Given the description of an element on the screen output the (x, y) to click on. 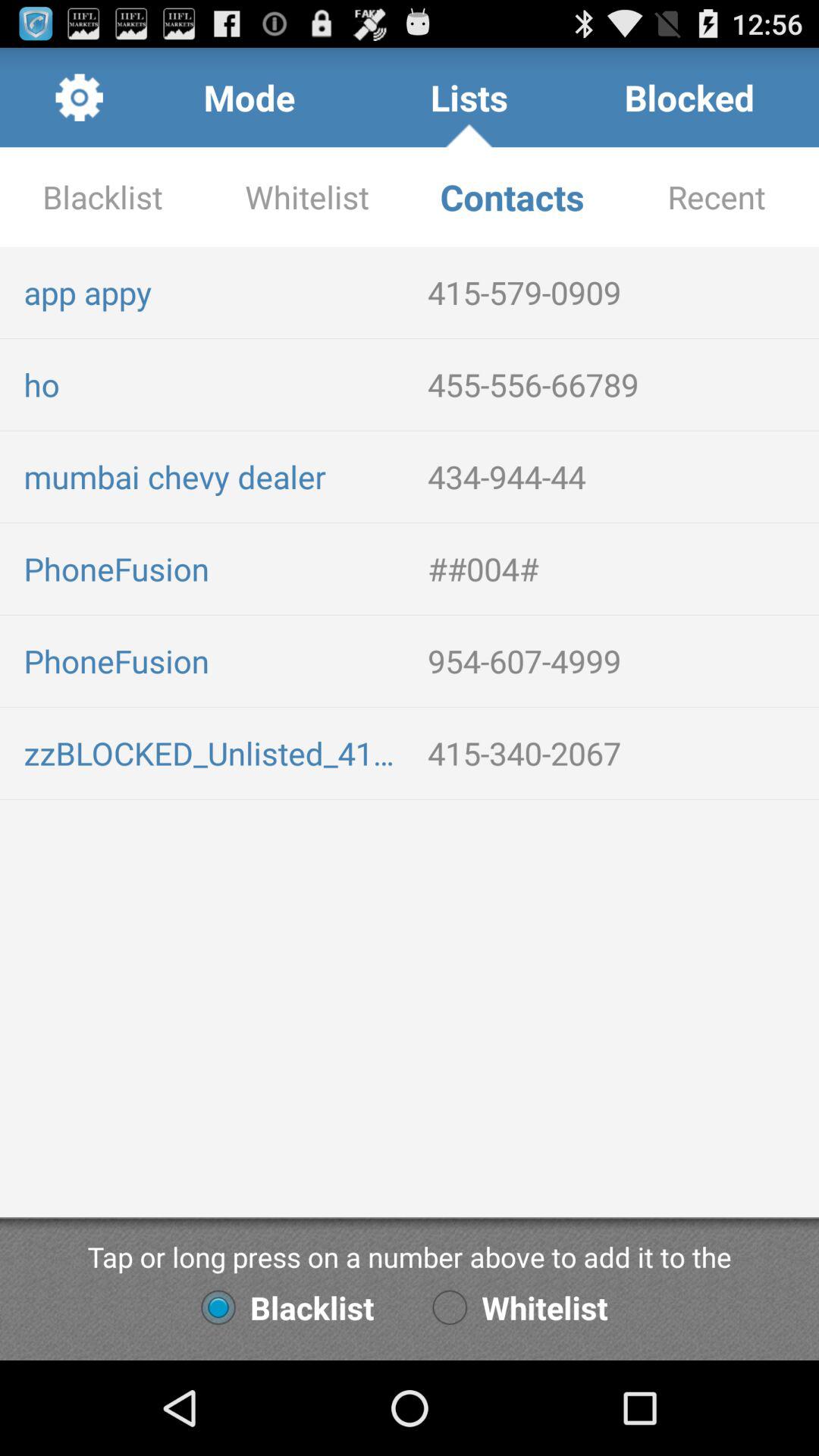
press icon to the right of the zzblocked_unlisted_4153402067 icon (617, 752)
